Given the description of an element on the screen output the (x, y) to click on. 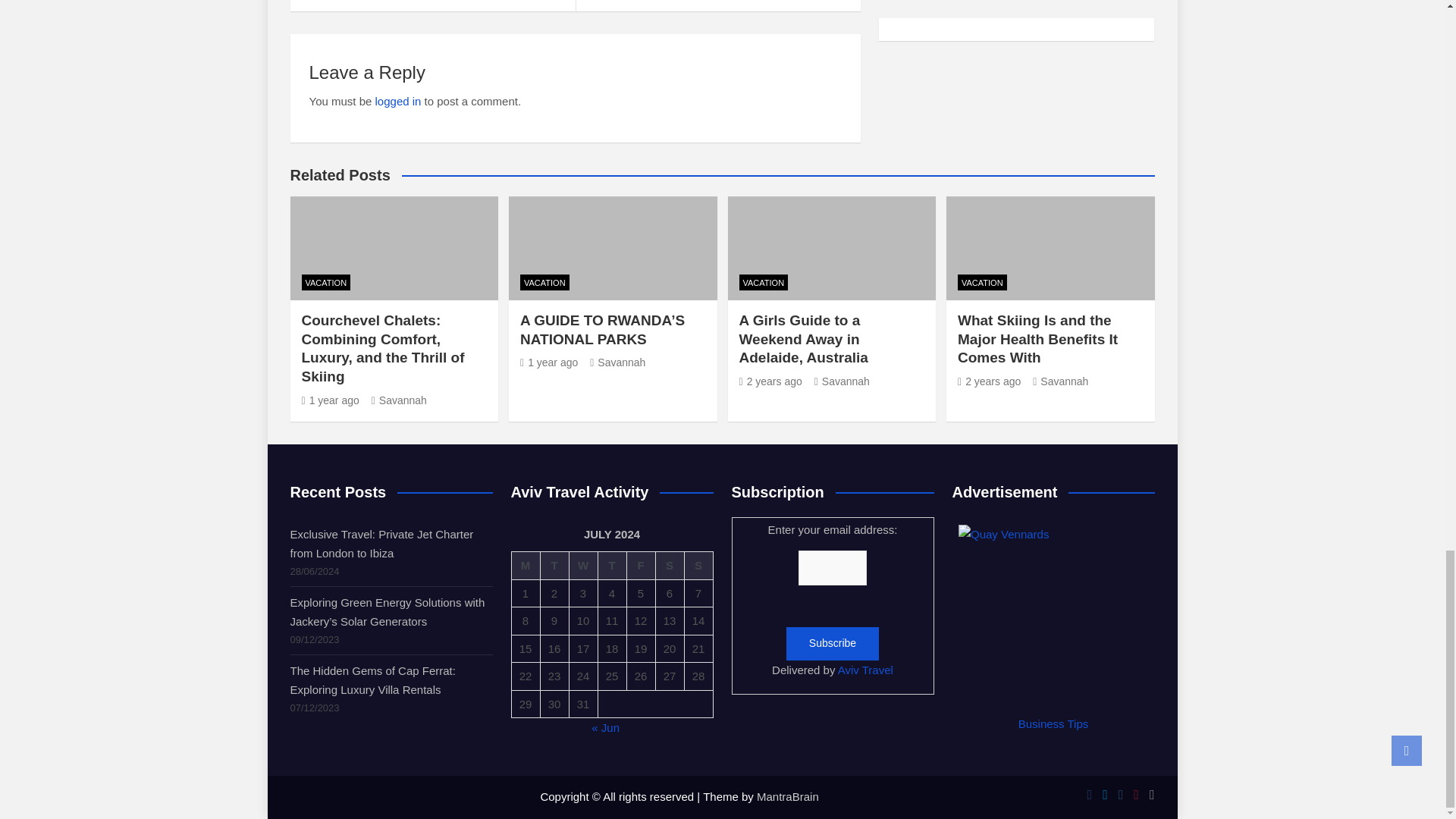
Mobile Drives Growth Of On-line Travel Bookings (432, 5)
A Girls Guide to a Weekend Away in Adelaide, Australia (770, 381)
Monday (525, 565)
What Skiing Is and the Major Health Benefits It Comes With (989, 381)
Tuesday (554, 565)
Wednesday (582, 565)
logged in (398, 101)
Subscribe (832, 643)
